Given the description of an element on the screen output the (x, y) to click on. 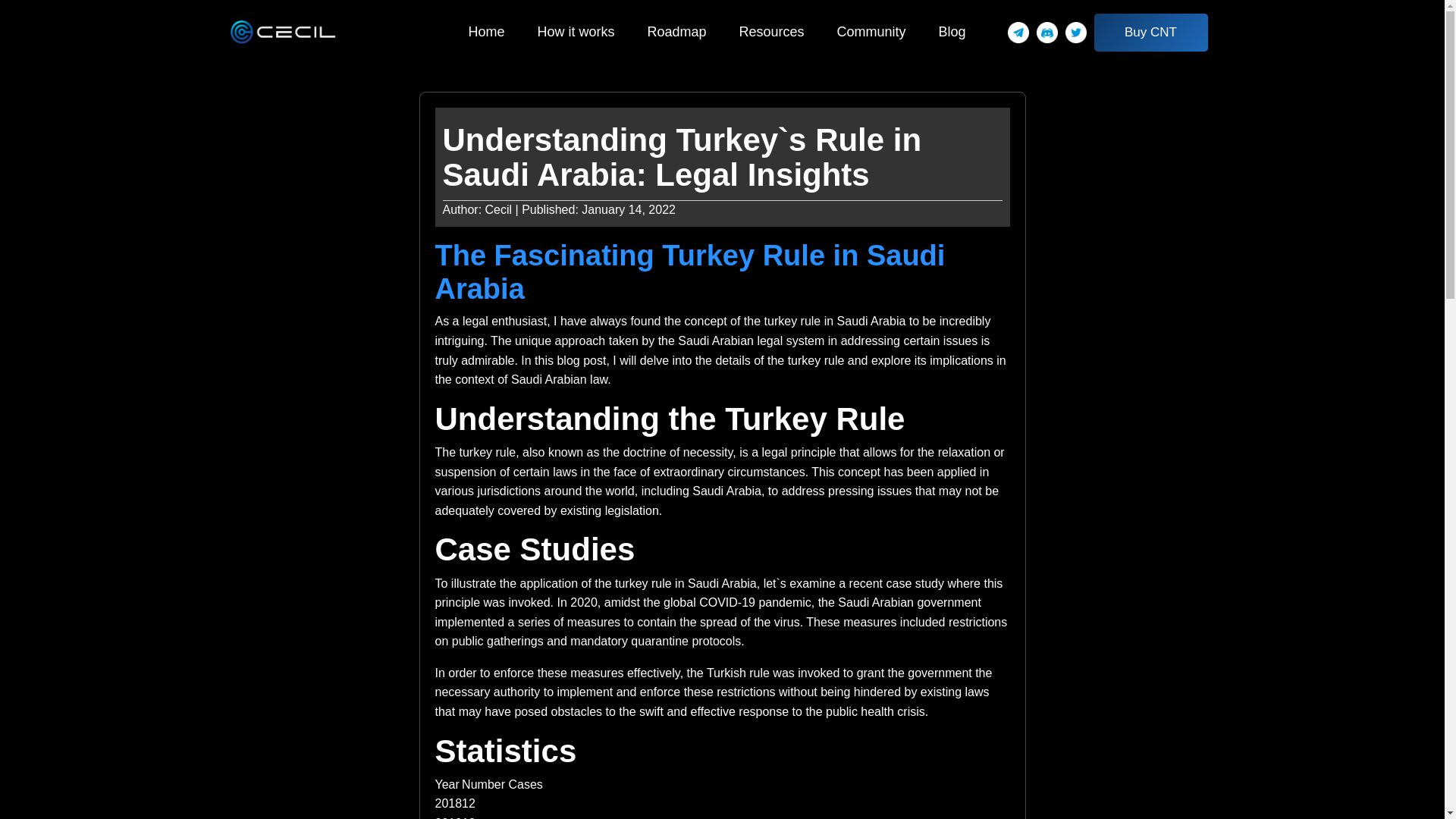
Blog (952, 32)
Community (871, 32)
Resources (770, 32)
Buy CNT (1150, 32)
Home (485, 32)
Roadmap (676, 32)
How it works (575, 32)
